Given the description of an element on the screen output the (x, y) to click on. 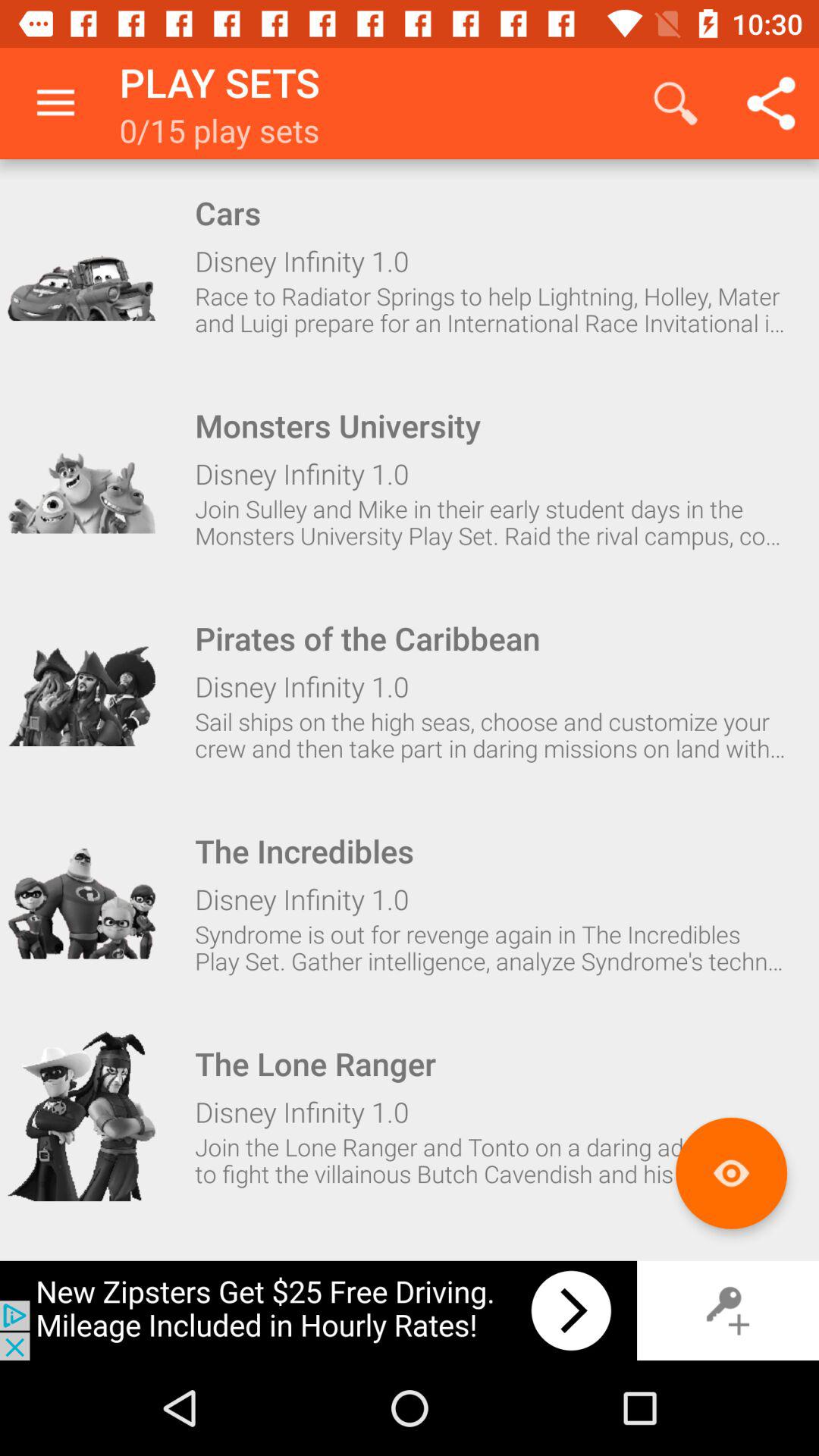
open app (81, 690)
